Given the description of an element on the screen output the (x, y) to click on. 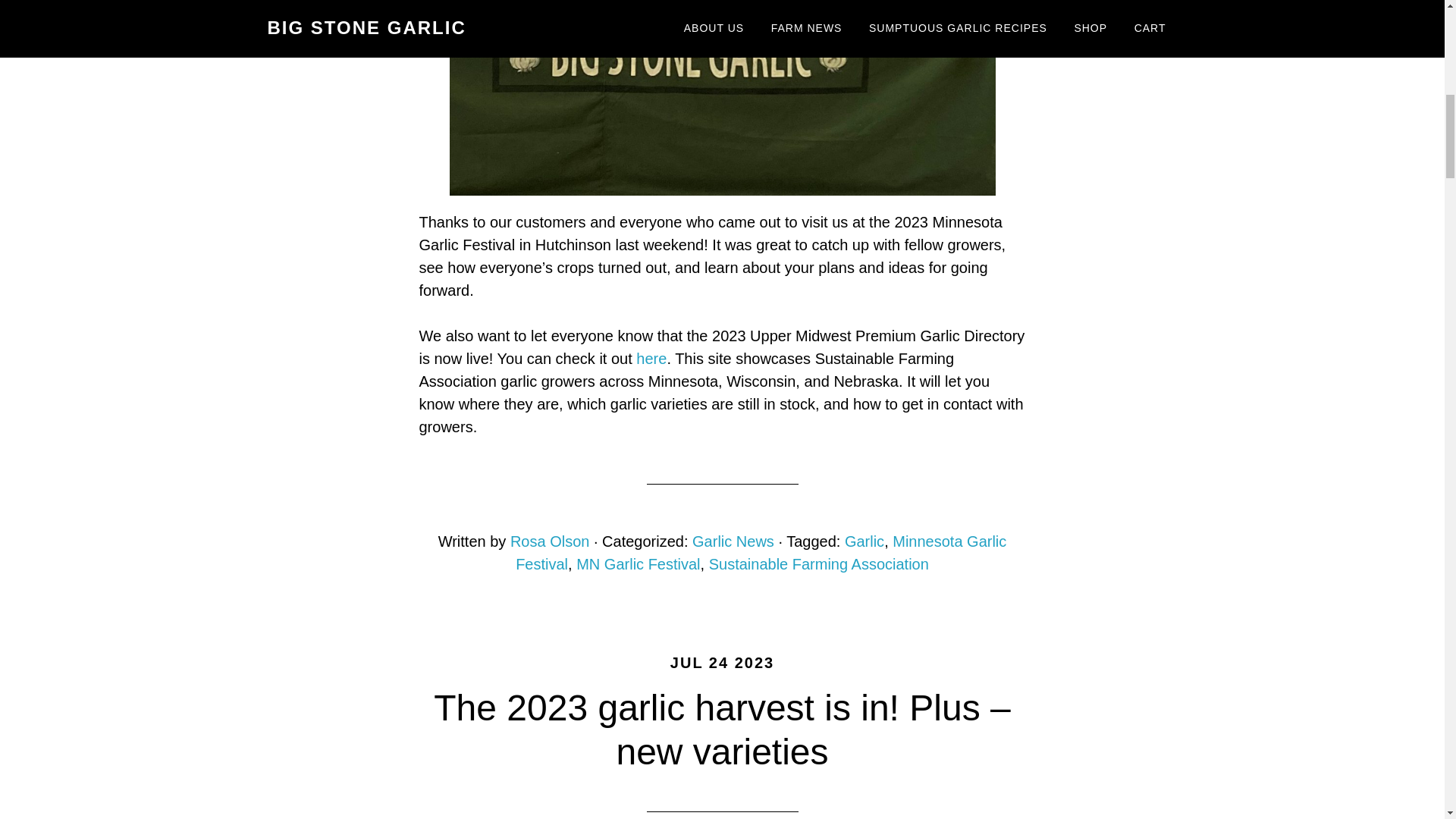
Garlic News (733, 541)
here (651, 358)
Sustainable Farming Association (818, 564)
Minnesota Garlic Festival (760, 552)
Garlic (863, 541)
MN Garlic Festival (638, 564)
Rosa Olson (550, 541)
